Given the description of an element on the screen output the (x, y) to click on. 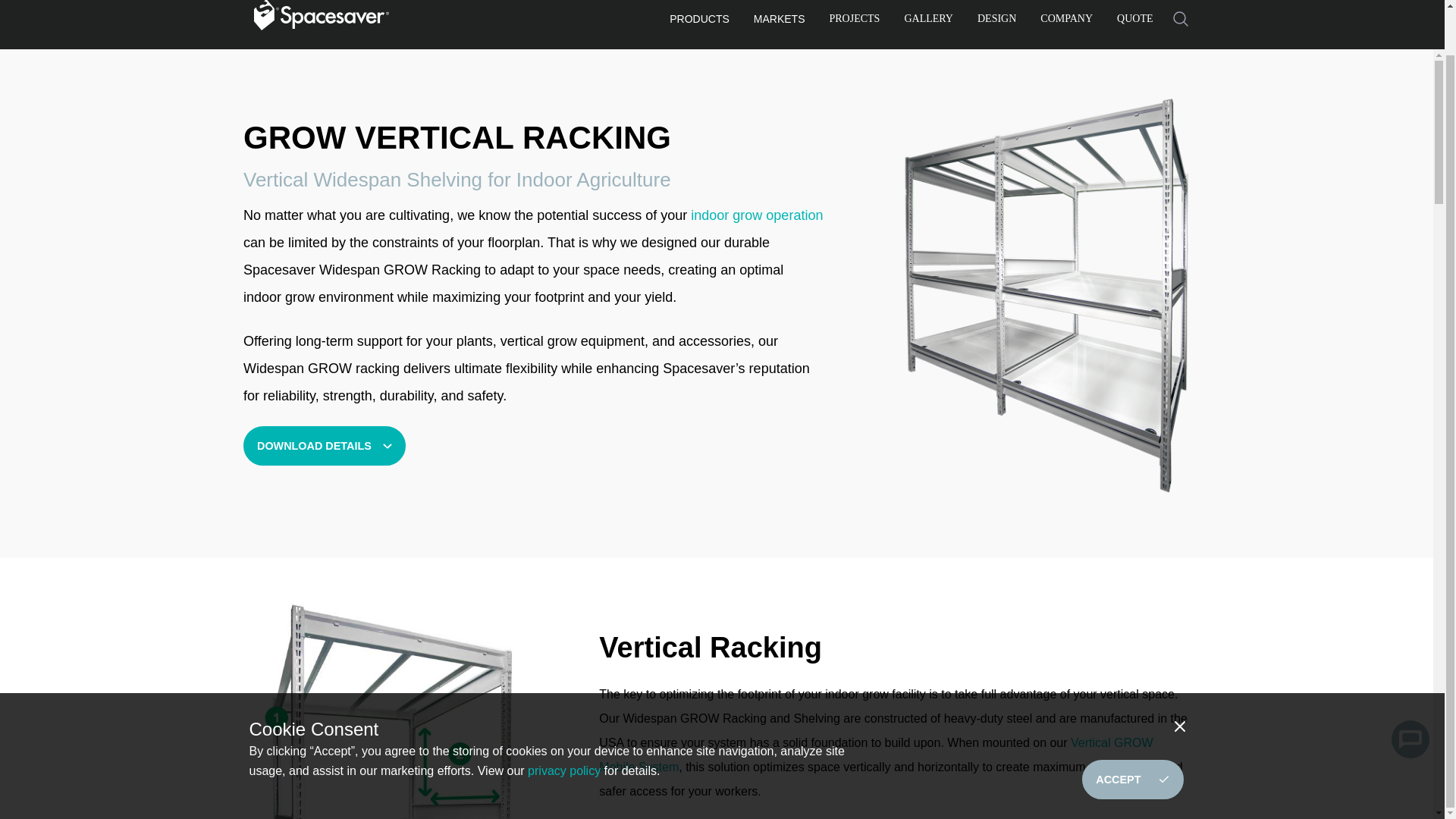
DOWNLOAD DETAILS (324, 445)
PROJECTS (854, 21)
GALLERY (928, 21)
PRODUCTS (699, 22)
indoor grow operation (756, 215)
Search (1179, 19)
MARKETS (779, 22)
Vertical GROW Mobile System (875, 754)
